Given the description of an element on the screen output the (x, y) to click on. 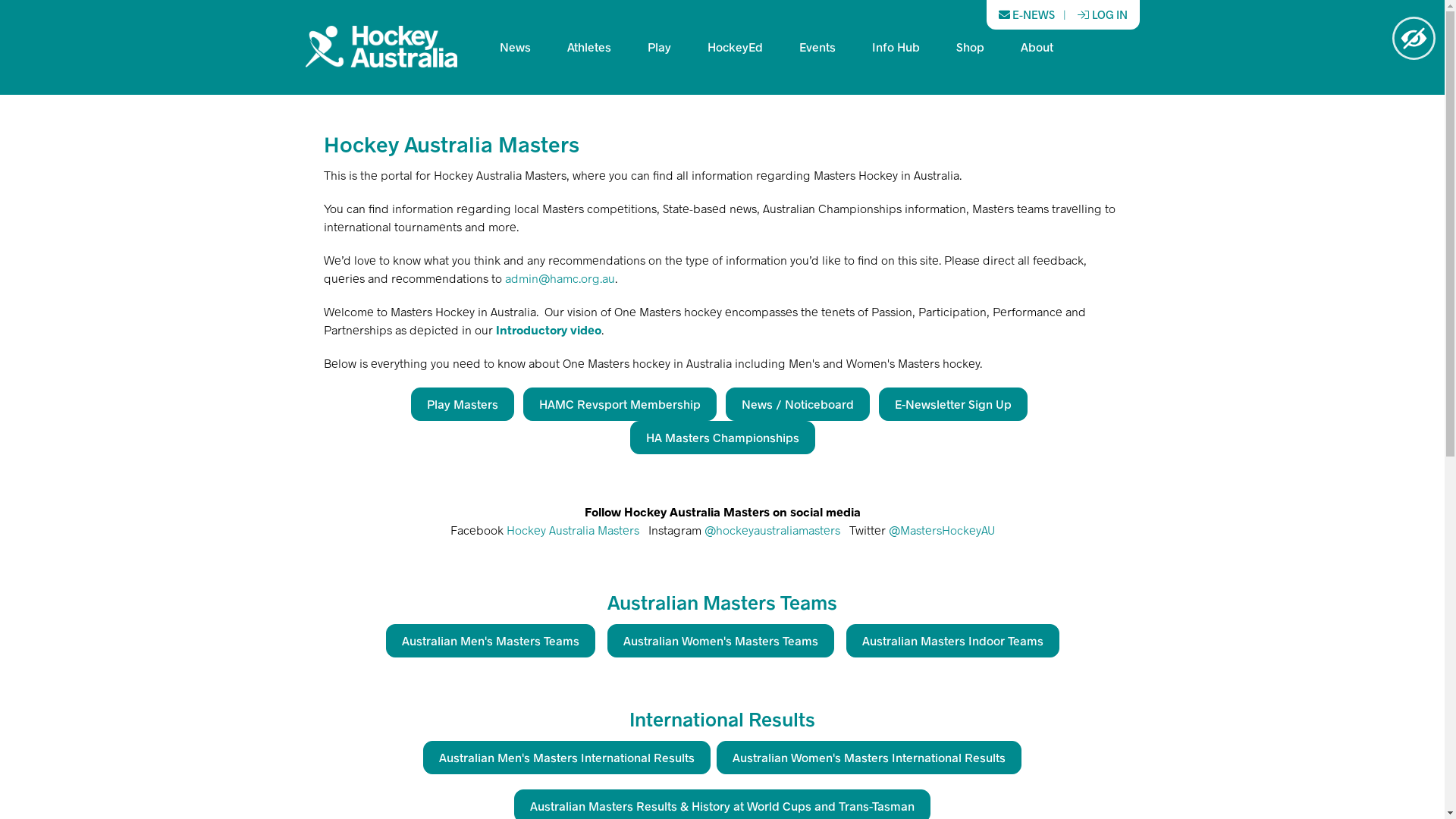
HockeyEd Element type: text (734, 45)
Play Masters Element type: text (462, 403)
About Element type: text (1036, 45)
@MastersHockeyAU Element type: text (941, 529)
Australian Women's Masters International Results Element type: text (868, 757)
Info Hub Element type: text (895, 45)
Australian Women's Masters Teams Element type: text (719, 640)
Australian Men's Masters Teams Element type: text (489, 640)
admin@hamc.org.au Element type: text (560, 277)
E-Newsletter Sign Up Element type: text (952, 403)
Hockey Australia Masters Element type: text (572, 529)
Play Element type: text (659, 45)
HAMC Revsport Membership Element type: text (619, 403)
News Element type: text (514, 45)
LOG IN Element type: text (1101, 14)
@hockeyaustraliamasters Element type: text (771, 529)
Australian Men's Masters International Results Element type: text (566, 757)
News / Noticeboard Element type: text (797, 403)
Shop Element type: text (969, 45)
Introductory video Element type: text (548, 329)
Athletes Element type: text (589, 45)
HA Masters Championships Element type: text (721, 437)
Events Element type: text (817, 45)
E-NEWS Element type: text (1025, 14)
Australian Masters Indoor Teams Element type: text (952, 640)
